Given the description of an element on the screen output the (x, y) to click on. 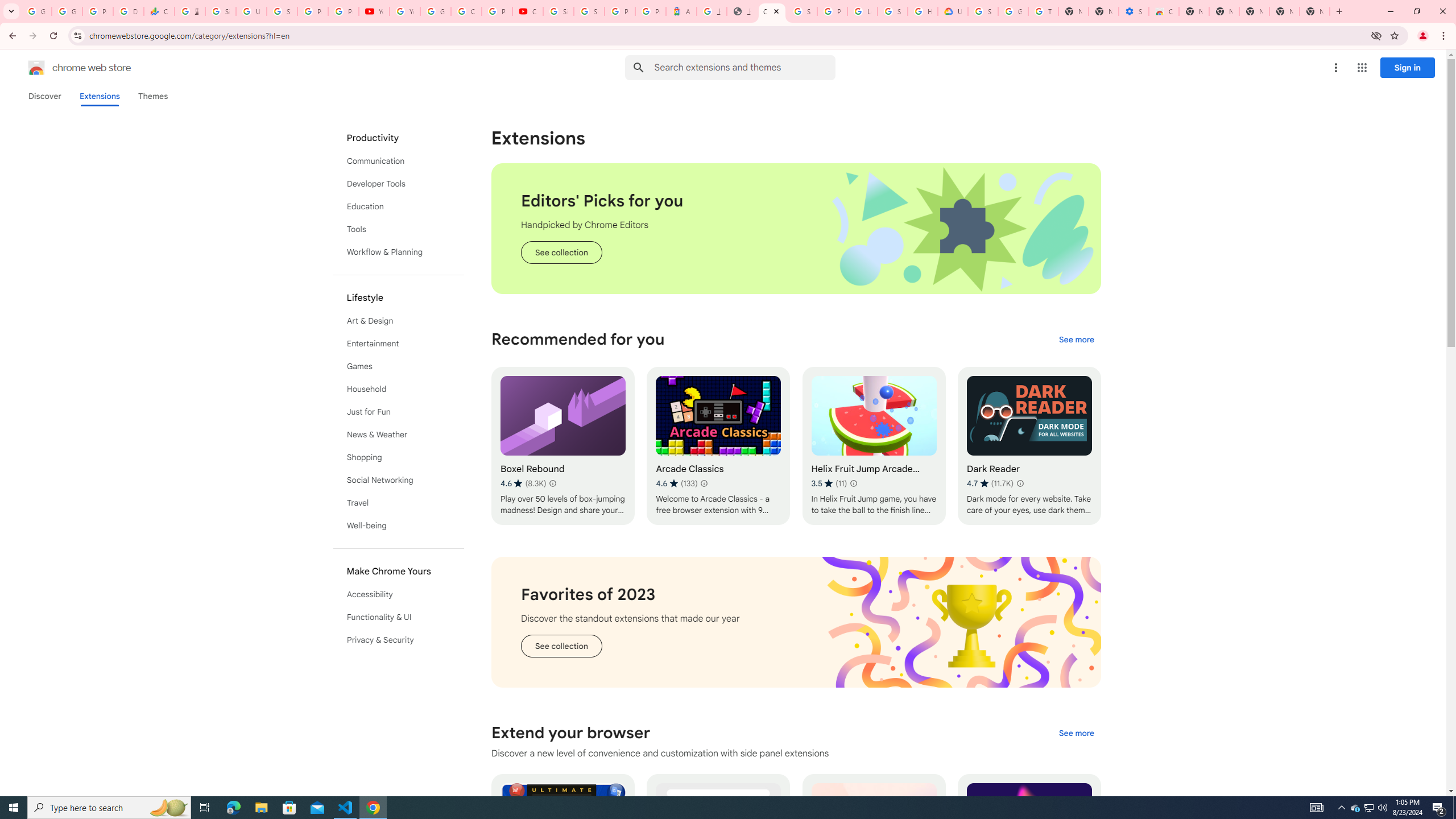
Travel (398, 502)
Sign in - Google Accounts (558, 11)
List of categories in Chrome Web Store. (398, 388)
Sign in - Google Accounts (589, 11)
Google Workspace Admin Community (36, 11)
Sign in - Google Accounts (982, 11)
Learn more about results and reviews "Arcade Classics" (703, 483)
See the "Editors' Picks extensions" collection (560, 252)
